Given the description of an element on the screen output the (x, y) to click on. 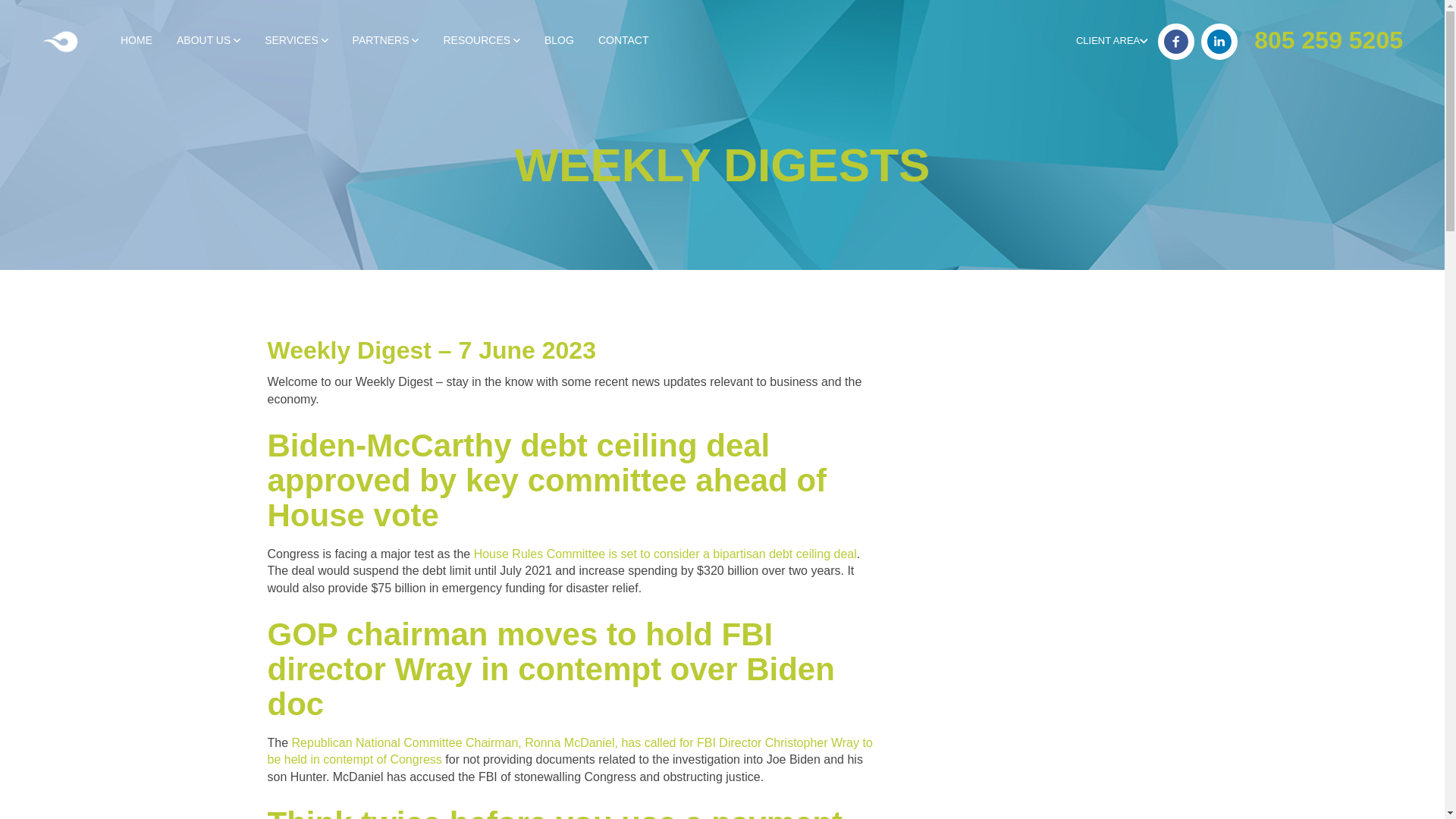
Home (135, 40)
CONTACT (623, 40)
Partners (385, 40)
About Us (207, 40)
PARTNERS  (385, 40)
805 259 5205 (1328, 40)
HOME (135, 40)
RESOURCES  (481, 40)
